Given the description of an element on the screen output the (x, y) to click on. 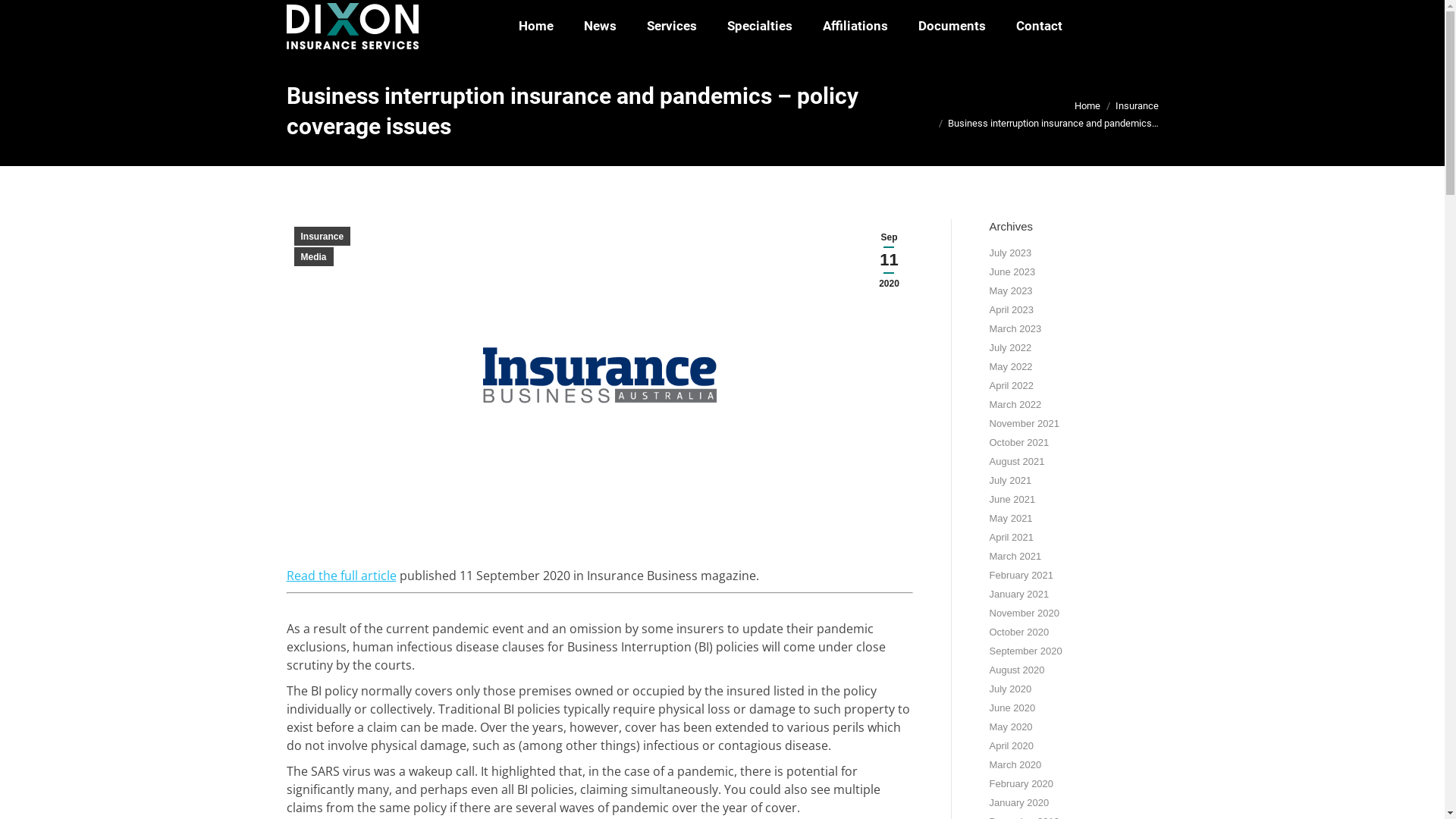
February 2020 Element type: text (1020, 783)
Services Element type: text (670, 25)
Read the full article Element type: text (341, 575)
May 2021 Element type: text (1010, 518)
Affiliations Element type: text (854, 25)
August 2021 Element type: text (1016, 461)
Specialties Element type: text (758, 25)
August 2020 Element type: text (1016, 669)
May 2023 Element type: text (1010, 290)
Home Element type: text (1086, 105)
Insurance Element type: text (322, 235)
April 2021 Element type: text (1010, 537)
Documents Element type: text (951, 25)
October 2020 Element type: text (1018, 632)
January 2020 Element type: text (1018, 802)
September 2020 Element type: text (1024, 650)
June 2020 Element type: text (1011, 707)
July 2023 Element type: text (1009, 252)
Sep
11
2020 Element type: text (889, 260)
October 2021 Element type: text (1018, 442)
May 2020 Element type: text (1010, 726)
November 2021 Element type: text (1023, 423)
February 2021 Element type: text (1020, 575)
News Element type: text (600, 25)
Insurance Element type: text (1135, 105)
April 2020 Element type: text (1010, 745)
November 2020 Element type: text (1023, 613)
January 2021 Element type: text (1018, 594)
April 2022 Element type: text (1010, 385)
July 2022 Element type: text (1009, 347)
Contact Element type: text (1038, 25)
July 2021 Element type: text (1009, 480)
March 2022 Element type: text (1014, 404)
June 2023 Element type: text (1011, 271)
May 2022 Element type: text (1010, 366)
Media Element type: text (313, 256)
March 2021 Element type: text (1014, 556)
Home Element type: text (536, 25)
June 2021 Element type: text (1011, 499)
March 2020 Element type: text (1014, 764)
March 2023 Element type: text (1014, 328)
April 2023 Element type: text (1010, 309)
July 2020 Element type: text (1009, 688)
